Given the description of an element on the screen output the (x, y) to click on. 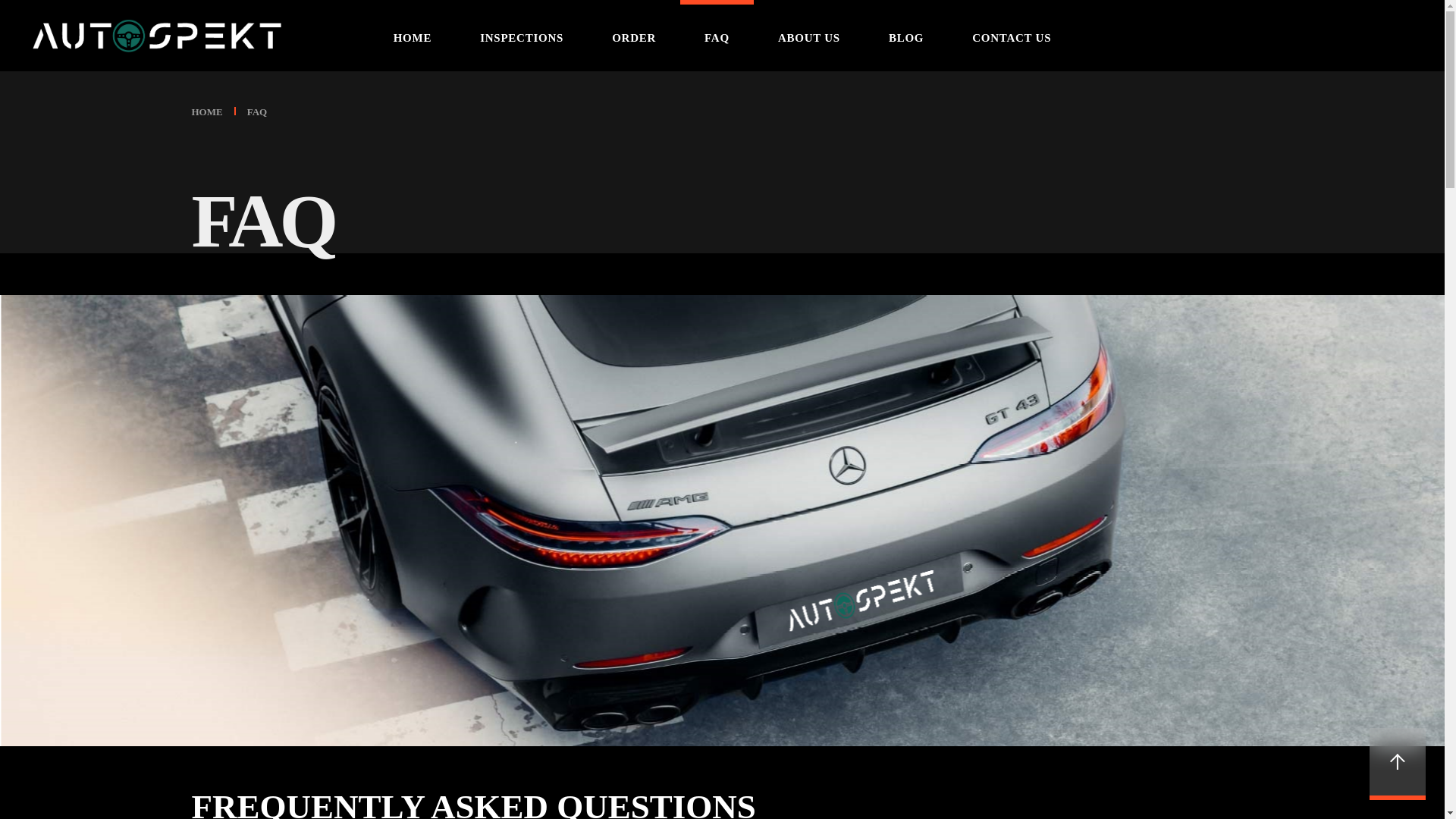
CONTACT US (1011, 35)
INSPECTIONS (521, 35)
HOME (206, 111)
